Given the description of an element on the screen output the (x, y) to click on. 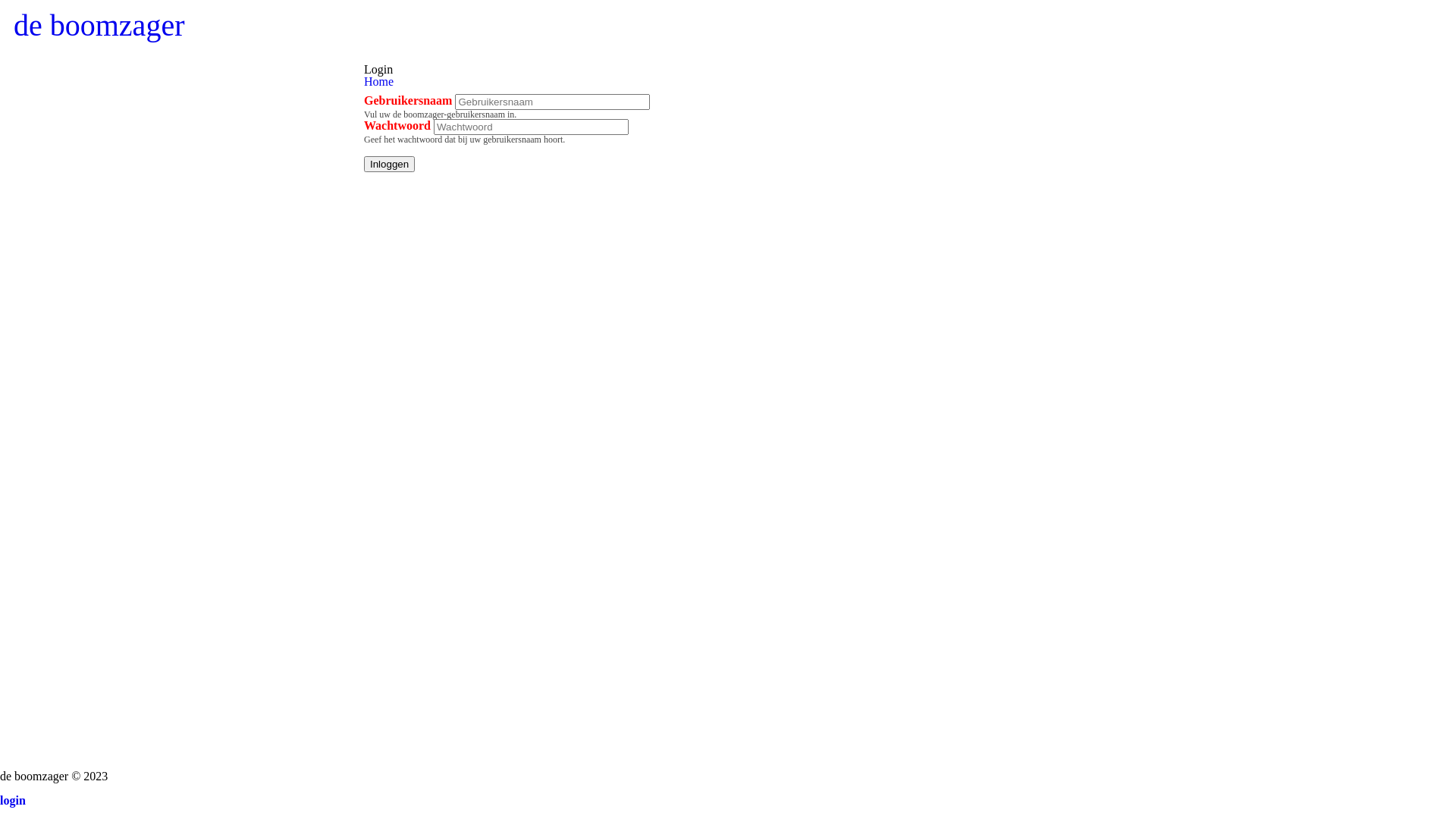
Inloggen Element type: text (389, 164)
login Element type: text (12, 799)
Overslaan en naar de algemene inhoud gaan Element type: text (107, 0)
Home Element type: text (378, 81)
